Given the description of an element on the screen output the (x, y) to click on. 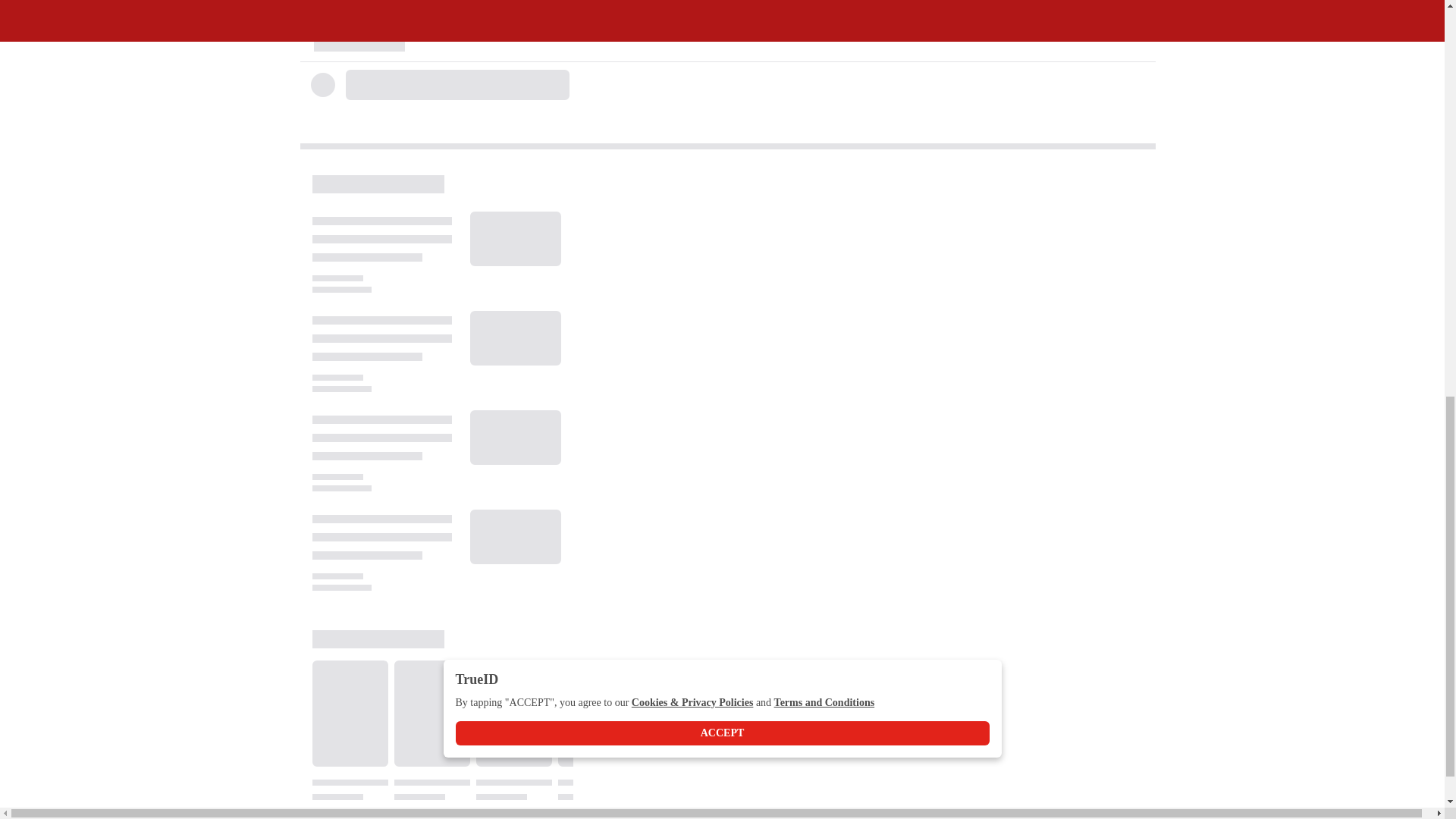
Loading... (451, 100)
Loading... (451, 42)
Loading... (443, 714)
